Given the description of an element on the screen output the (x, y) to click on. 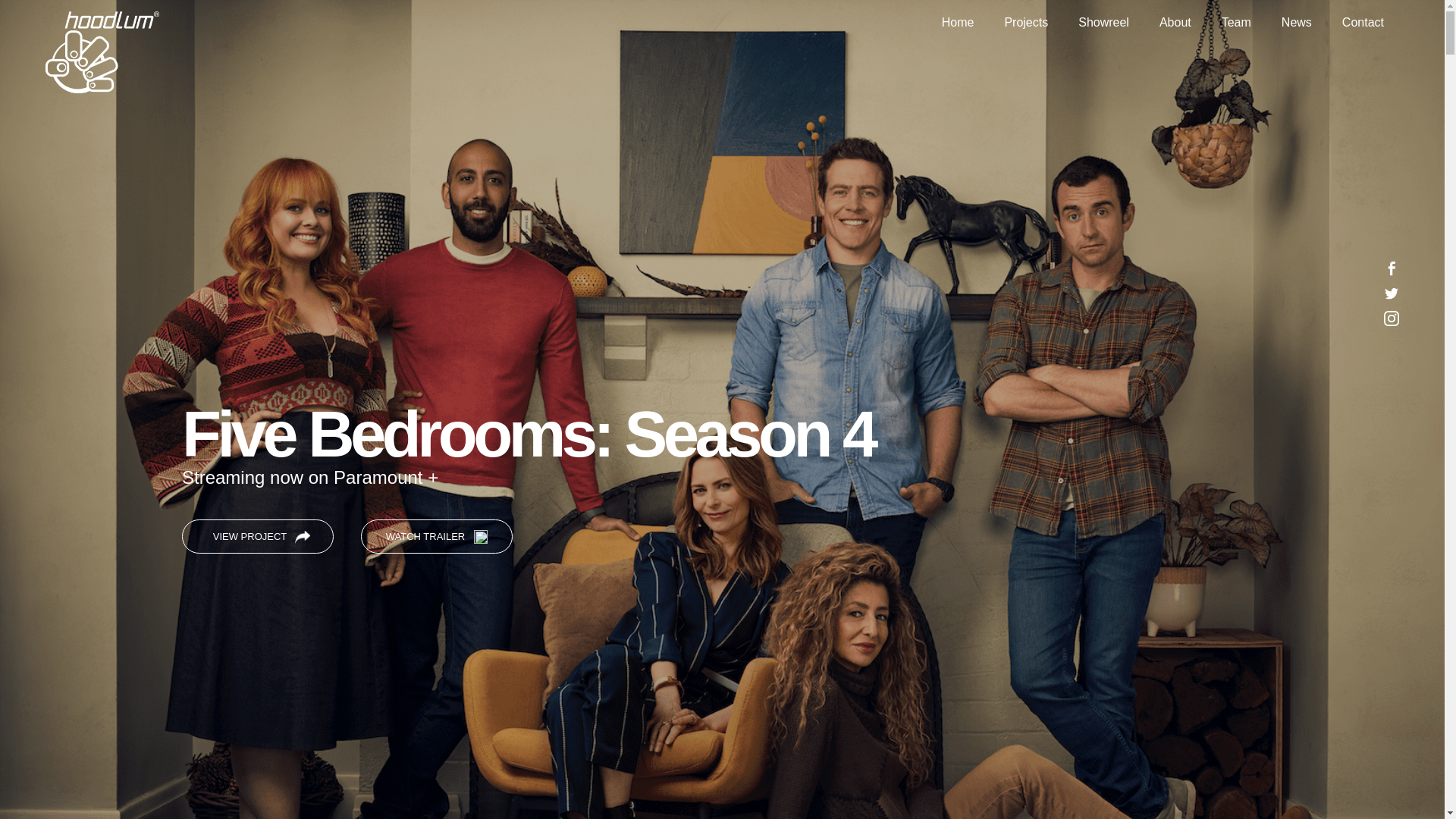
WATCH TRAILER Element type: text (436, 536)
About Element type: text (1175, 22)
Showreel Element type: text (1103, 22)
Team Element type: text (1236, 22)
Home Element type: text (957, 22)
Contact Element type: text (1363, 22)
Projects Element type: text (1025, 22)
News Element type: text (1296, 22)
VIEW PROJECT Element type: text (257, 536)
